Given the description of an element on the screen output the (x, y) to click on. 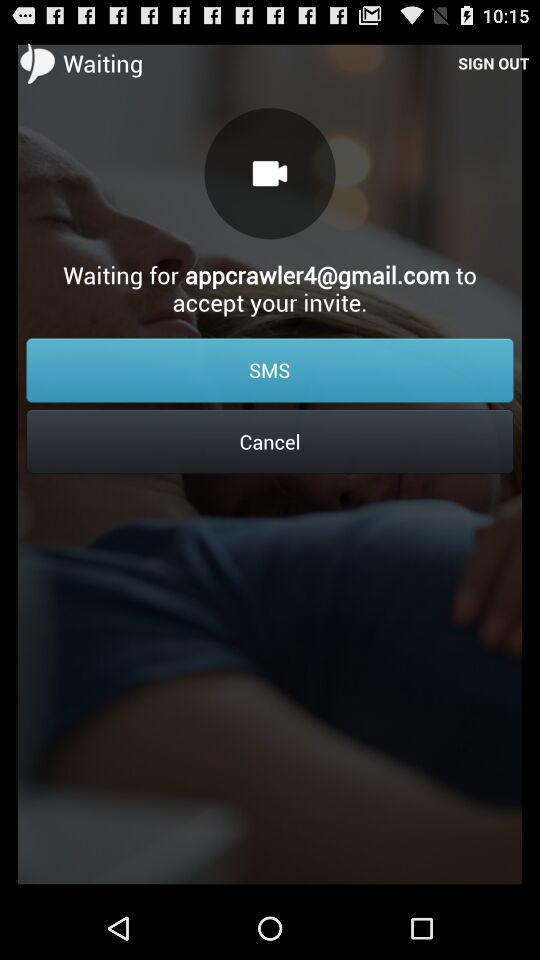
click sign out item (493, 62)
